Given the description of an element on the screen output the (x, y) to click on. 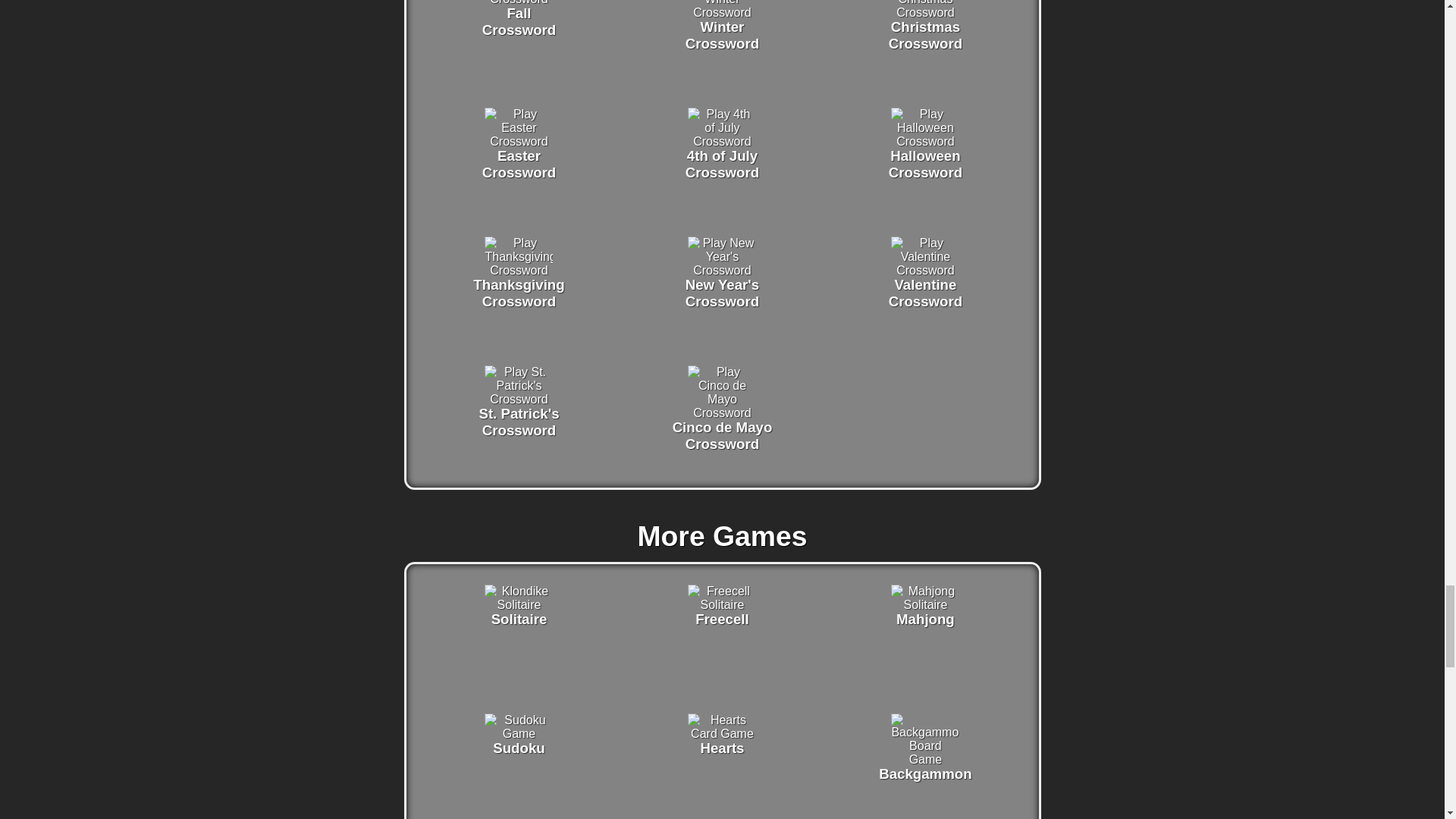
Backgammon (925, 758)
Freecell (925, 141)
Sudoku (518, 269)
Hearts (518, 2)
Mahjong (721, 604)
Solitaire (721, 269)
